Given the description of an element on the screen output the (x, y) to click on. 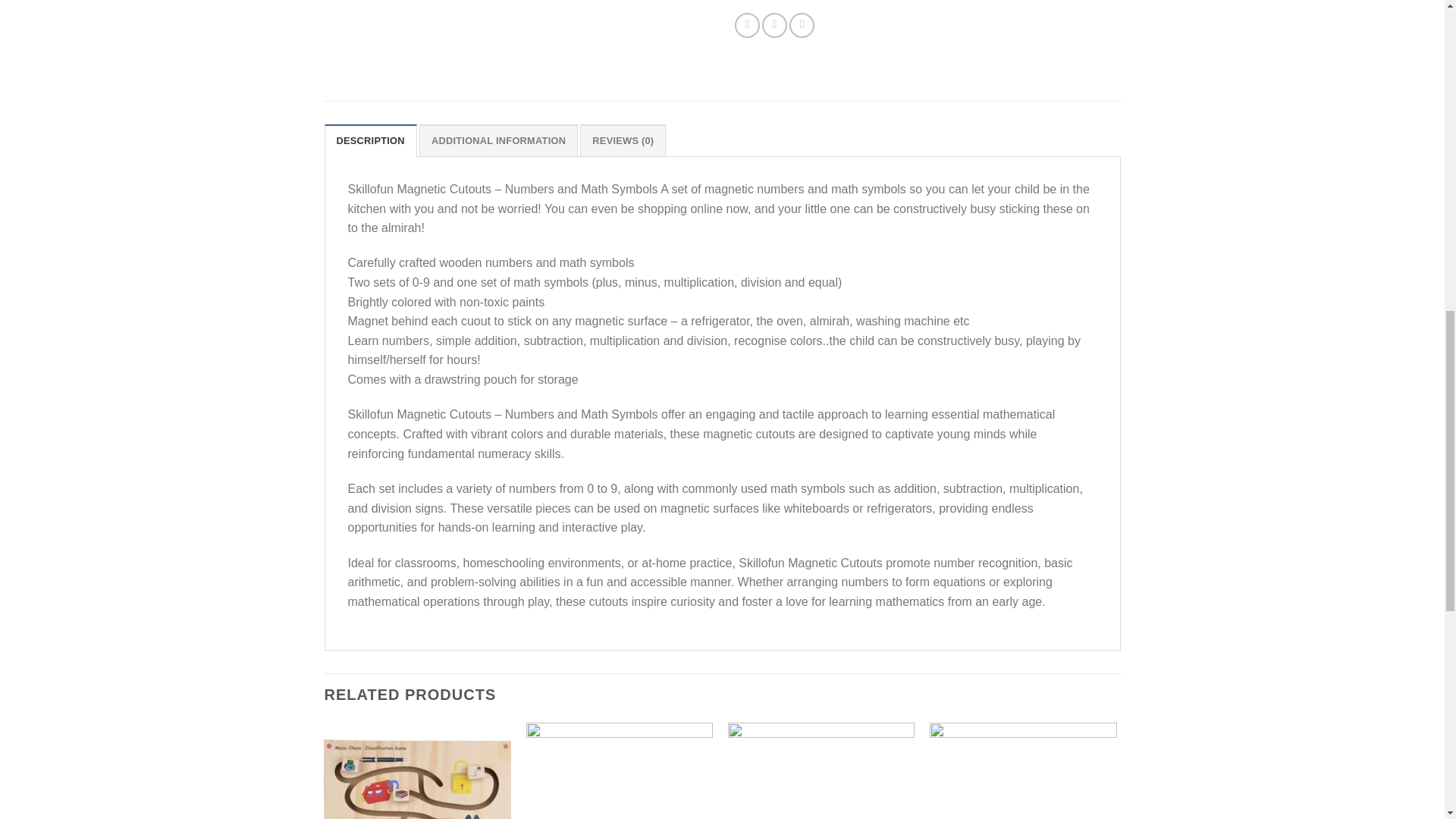
Share on Facebook (747, 25)
Email to a Friend (801, 25)
Share on Twitter (774, 25)
